Given the description of an element on the screen output the (x, y) to click on. 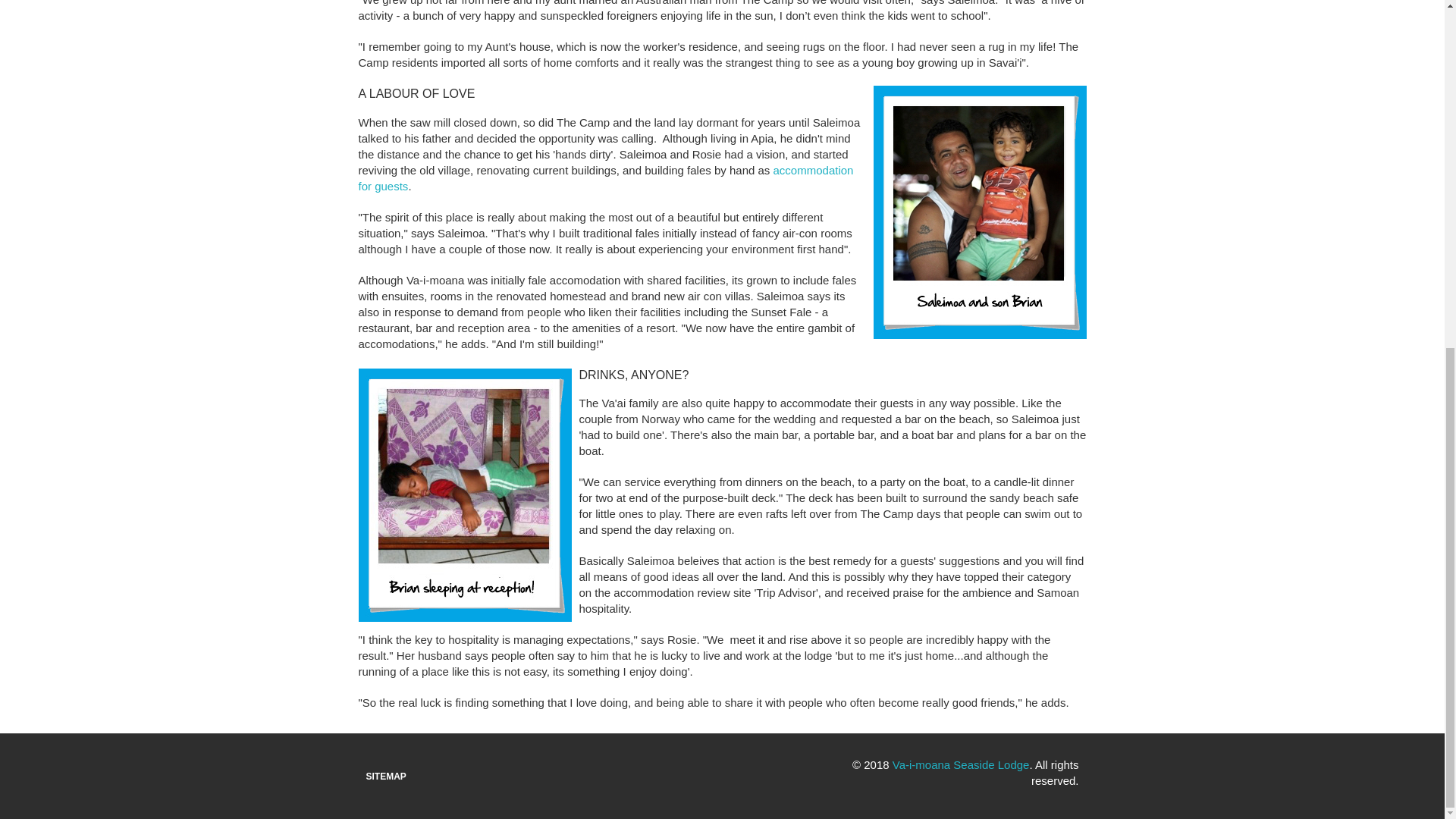
Va-i-Moana Seaside Lodge (960, 764)
Book Now (605, 177)
SITEMAP (385, 776)
Va-i-moana Seaside Lodge (960, 764)
accommodation for guests (605, 177)
